Given the description of an element on the screen output the (x, y) to click on. 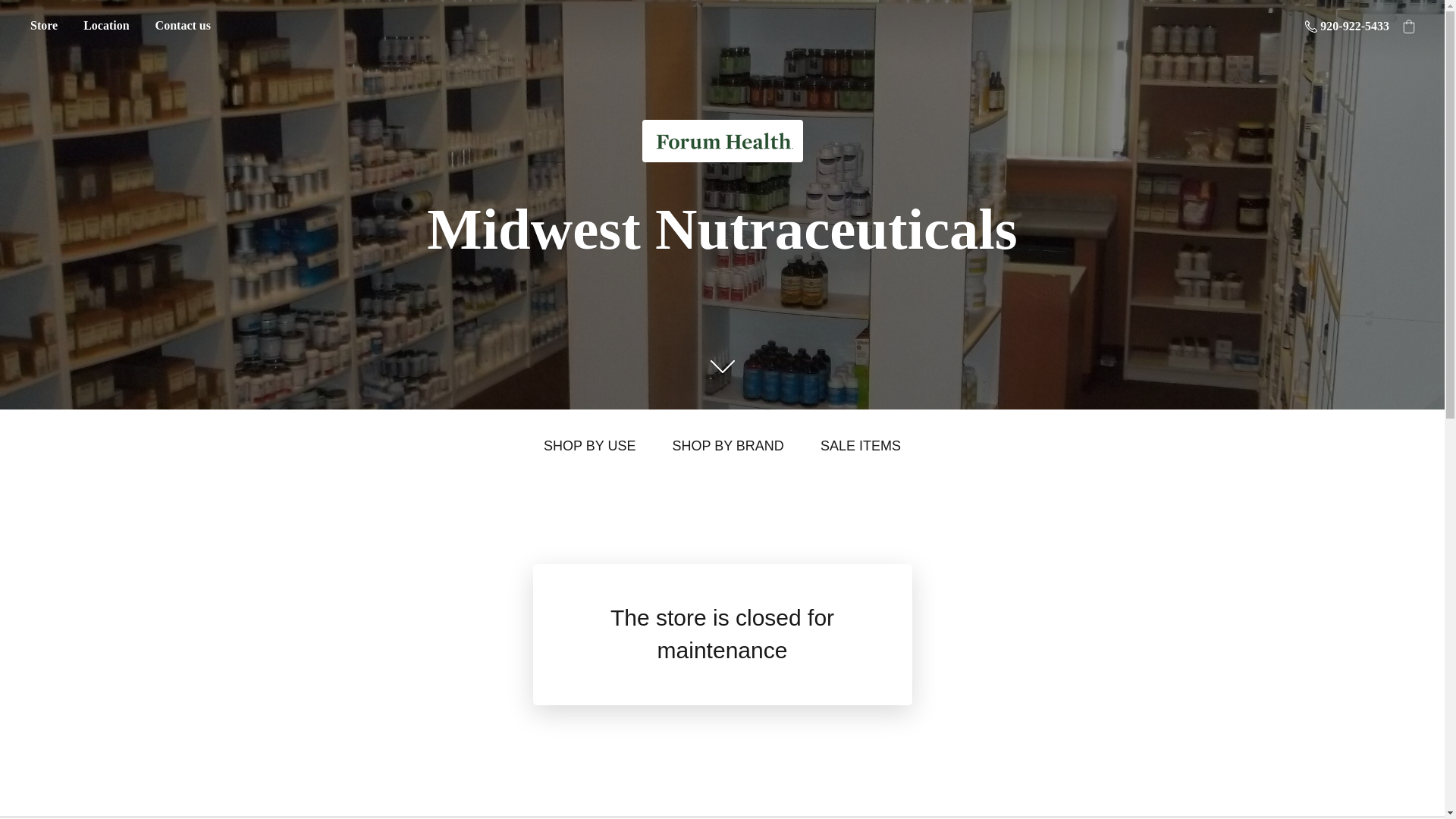
SHOP BY USE (588, 445)
SALE ITEMS (861, 445)
920-922-5433 (1346, 26)
SHOP BY BRAND (727, 445)
Location (105, 25)
Store (43, 25)
Contact us (183, 25)
